Given the description of an element on the screen output the (x, y) to click on. 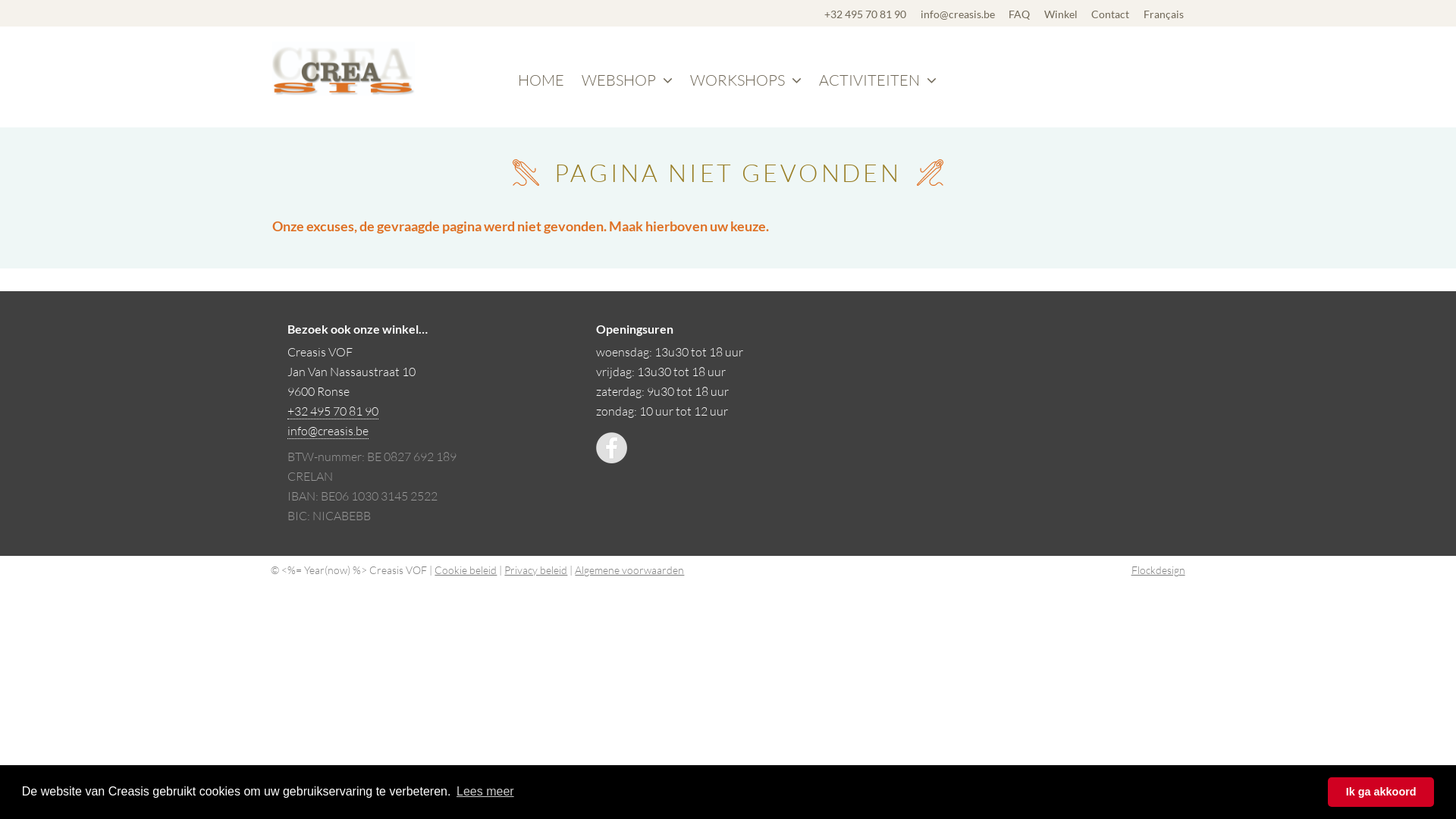
FAQ Element type: text (1018, 13)
ACTIVITEITEN Element type: text (877, 79)
Algemene voorwaarden Element type: text (629, 569)
WEBSHOP Element type: text (626, 79)
Privacy beleid Element type: text (535, 569)
Cookie beleid Element type: text (465, 569)
+32 495 70 81 90 Element type: text (865, 13)
+32 495 70 81 90 Element type: text (332, 411)
info@creasis.be Element type: text (327, 431)
Ik ga akkoord Element type: text (1380, 791)
WORKSHOPS Element type: text (745, 79)
Flockdesign Element type: text (1158, 569)
Lees meer Element type: text (485, 791)
Contact Element type: text (1110, 13)
HOME Element type: text (540, 79)
Winkel Element type: text (1060, 13)
info@creasis.be Element type: text (957, 13)
